Given the description of an element on the screen output the (x, y) to click on. 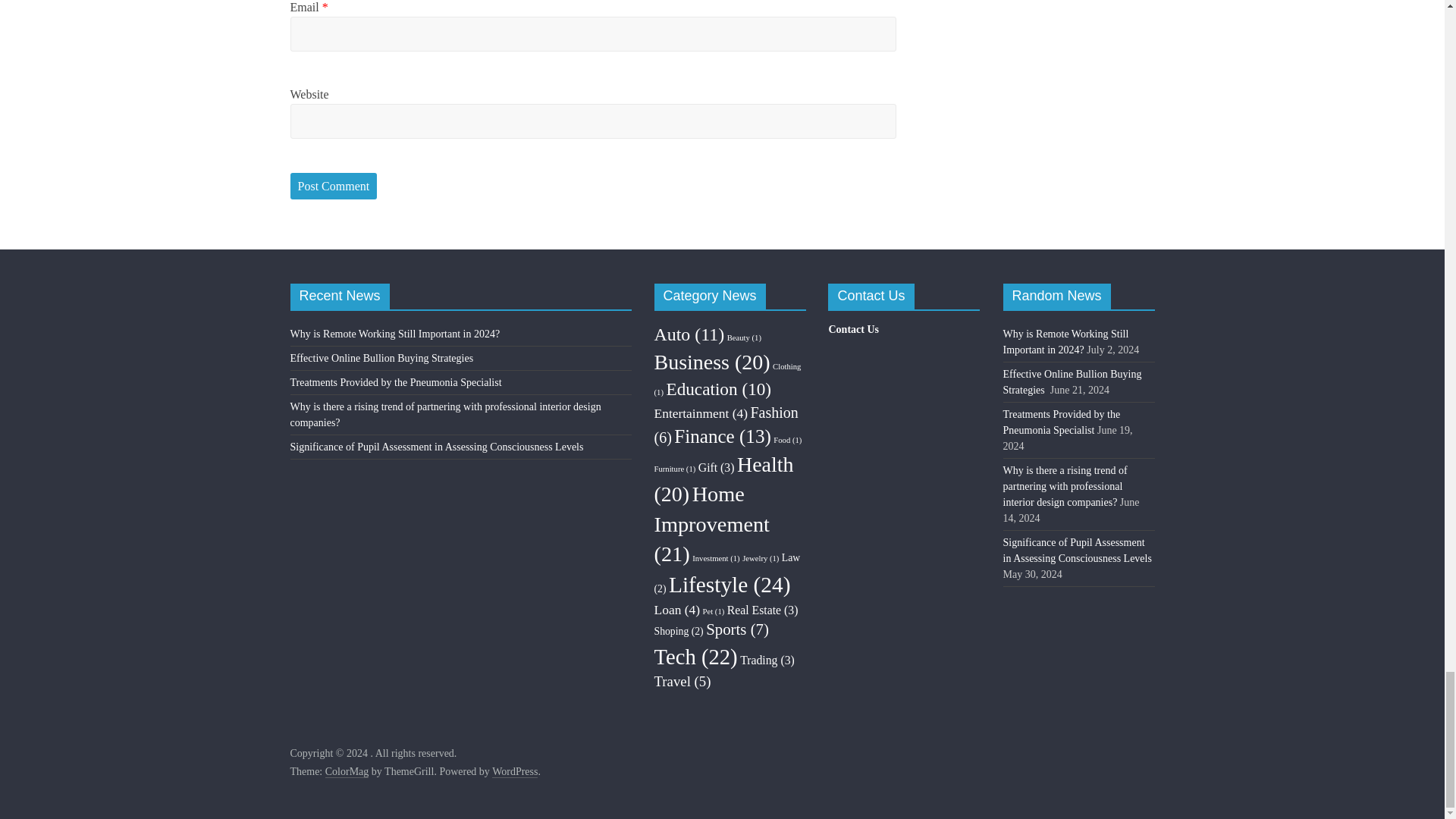
Post Comment (333, 185)
Post Comment (333, 185)
